Given the description of an element on the screen output the (x, y) to click on. 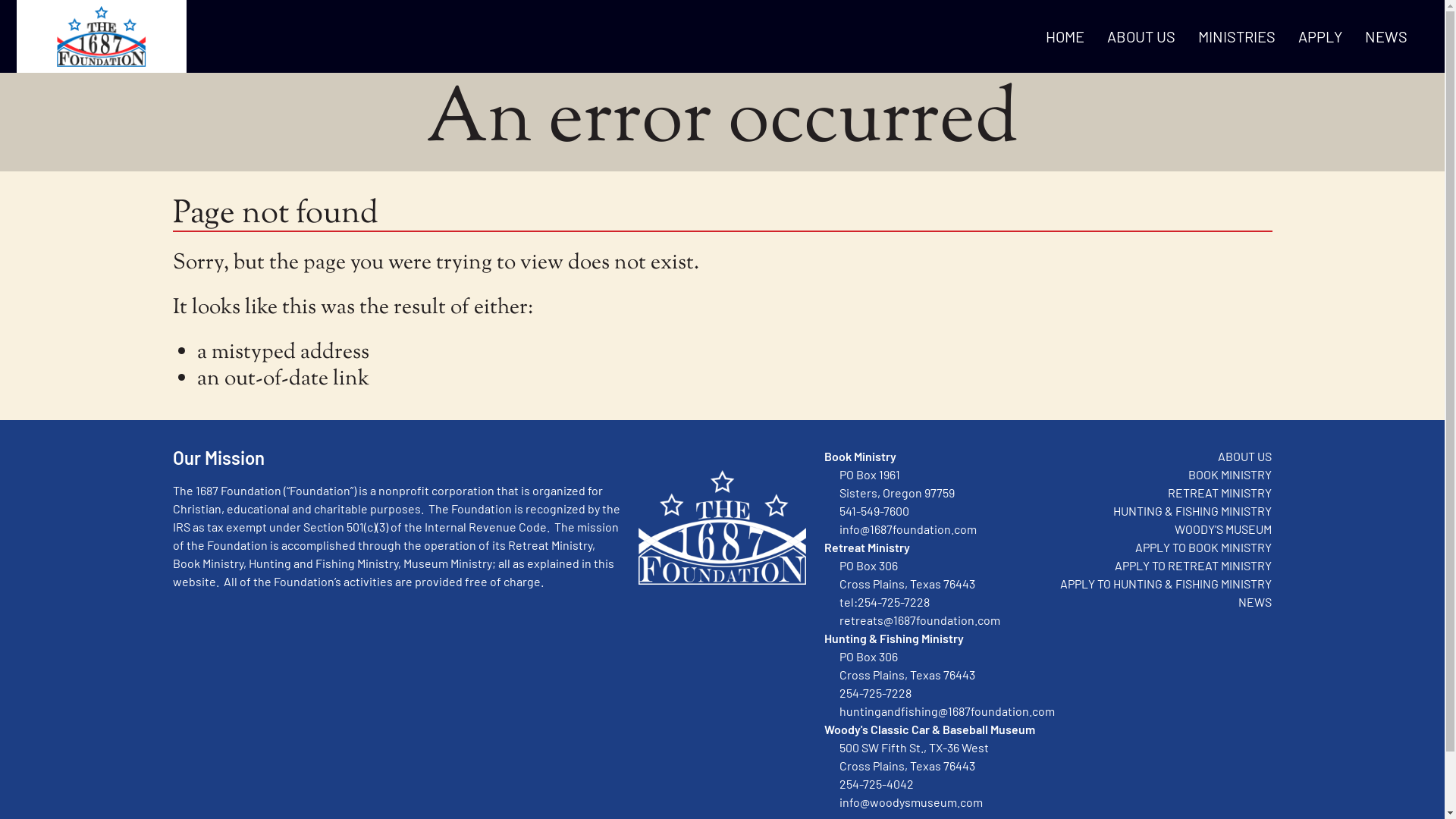
APPLY TO HUNTING & FISHING MINISTRY Element type: text (1165, 583)
info@1687foundation.com Element type: text (907, 528)
MINISTRIES Element type: text (1236, 35)
NEWS Element type: text (1254, 601)
retreats@1687foundation.com Element type: text (919, 619)
ABOUT US Element type: text (1244, 455)
NEWS Element type: text (1385, 35)
BOOK MINISTRY Element type: text (1229, 474)
HOME Element type: text (1064, 35)
info@woodysmuseum.com Element type: text (910, 801)
APPLY TO BOOK MINISTRY Element type: text (1203, 546)
ABOUT US Element type: text (1140, 35)
huntingandfishing@1687foundation.com Element type: text (946, 710)
APPLY TO RETREAT MINISTRY Element type: text (1192, 565)
HRS Element type: text (101, 36)
RETREAT MINISTRY Element type: text (1219, 492)
WOODY'S MUSEUM Element type: text (1222, 528)
HUNTING & FISHING MINISTRY Element type: text (1192, 510)
APPLY Element type: text (1319, 35)
